Given the description of an element on the screen output the (x, y) to click on. 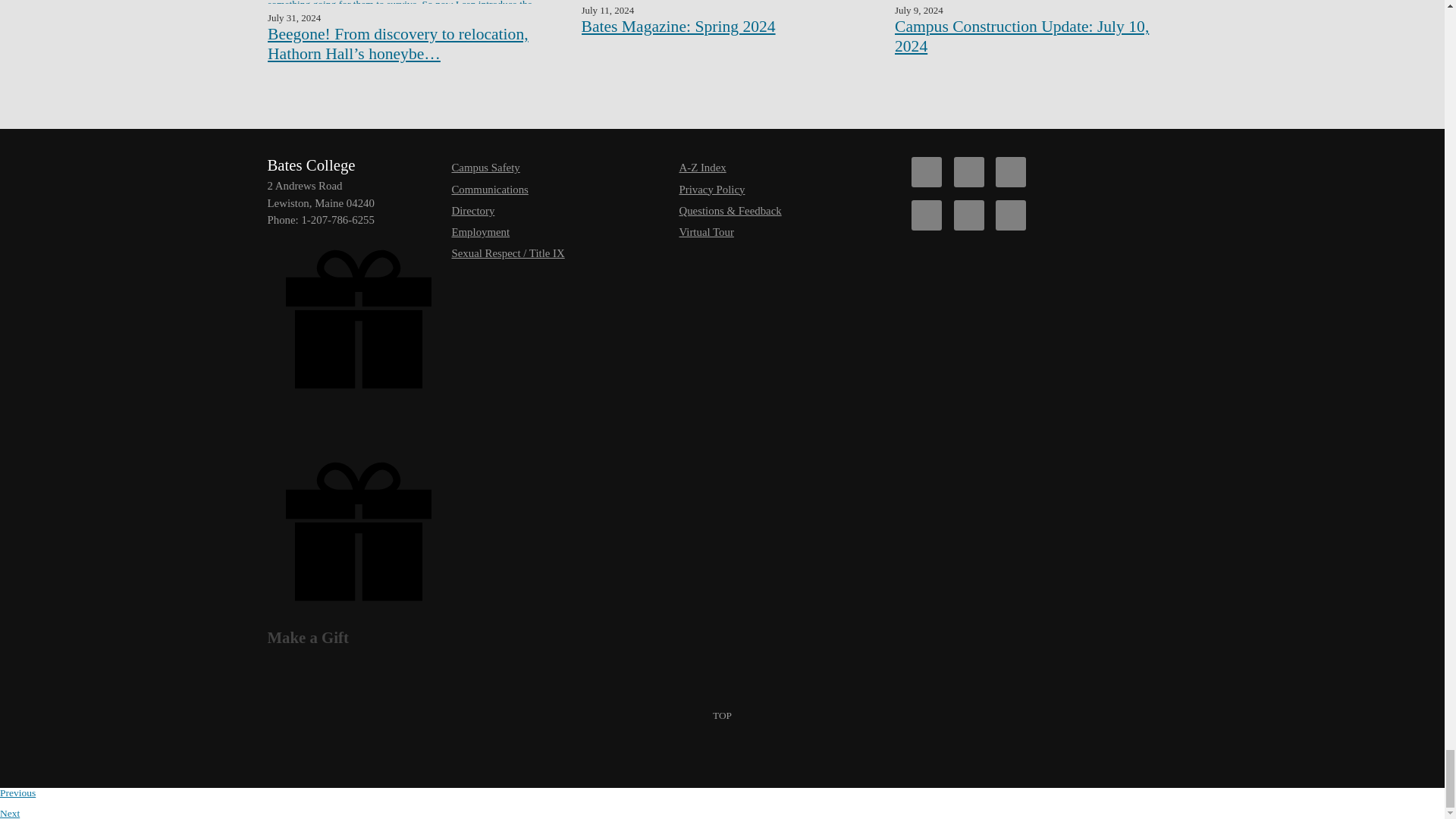
Facebook icon (926, 172)
Tiktok icon (1010, 172)
Instagram icon (926, 214)
LinkedIn icon (1010, 214)
Twitter icon (968, 172)
YouTube icon (968, 214)
